Given the description of an element on the screen output the (x, y) to click on. 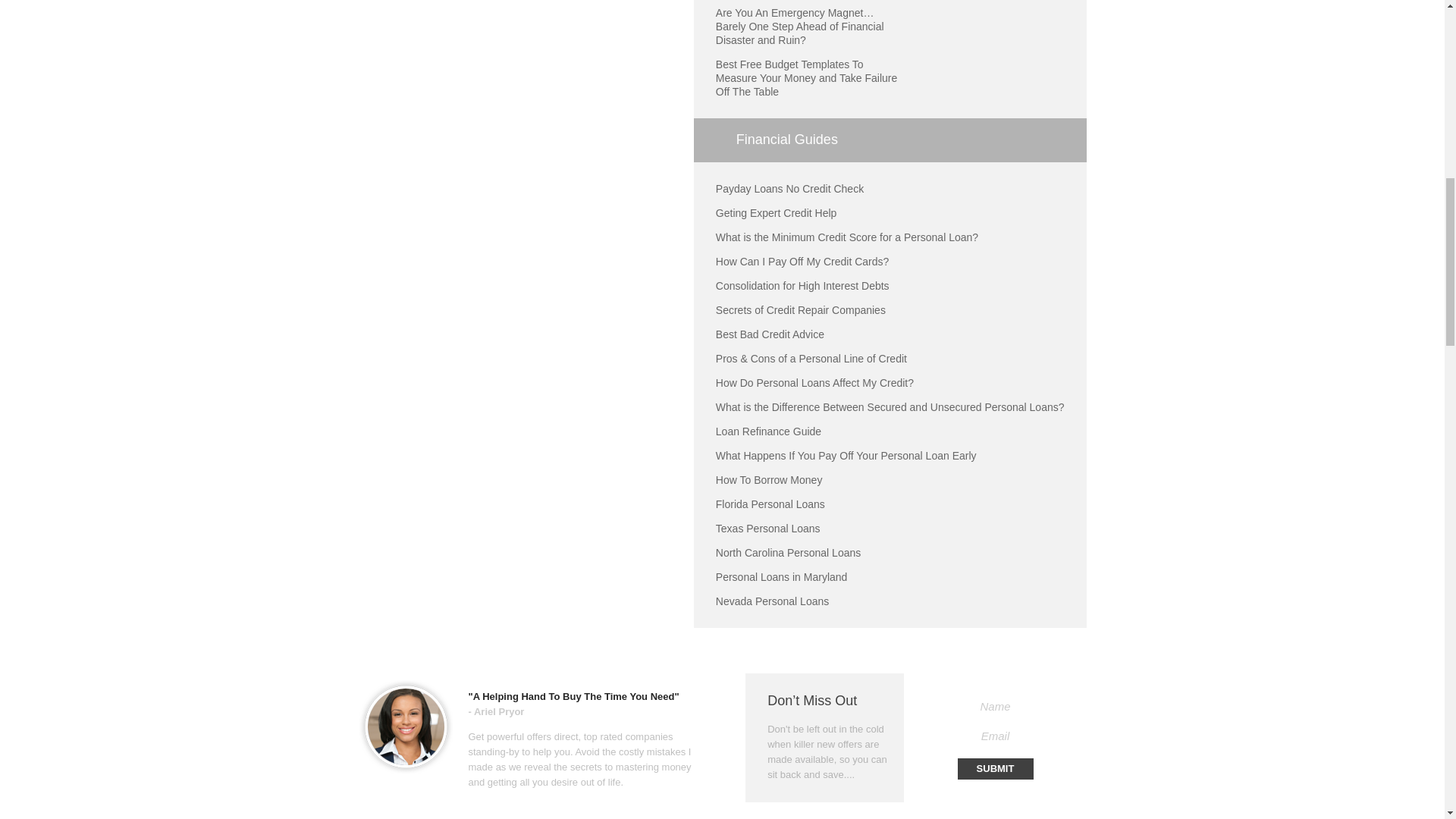
Geting Expert Credit Help (776, 213)
What is the Minimum Credit Score for a Personal Loan? (847, 236)
Financial Guides (890, 139)
Payday Loans No Credit Check (789, 188)
submit (994, 768)
How Can I Pay Off My Credit Cards? (802, 261)
Consolidation for High Interest Debts (802, 285)
